Given the description of an element on the screen output the (x, y) to click on. 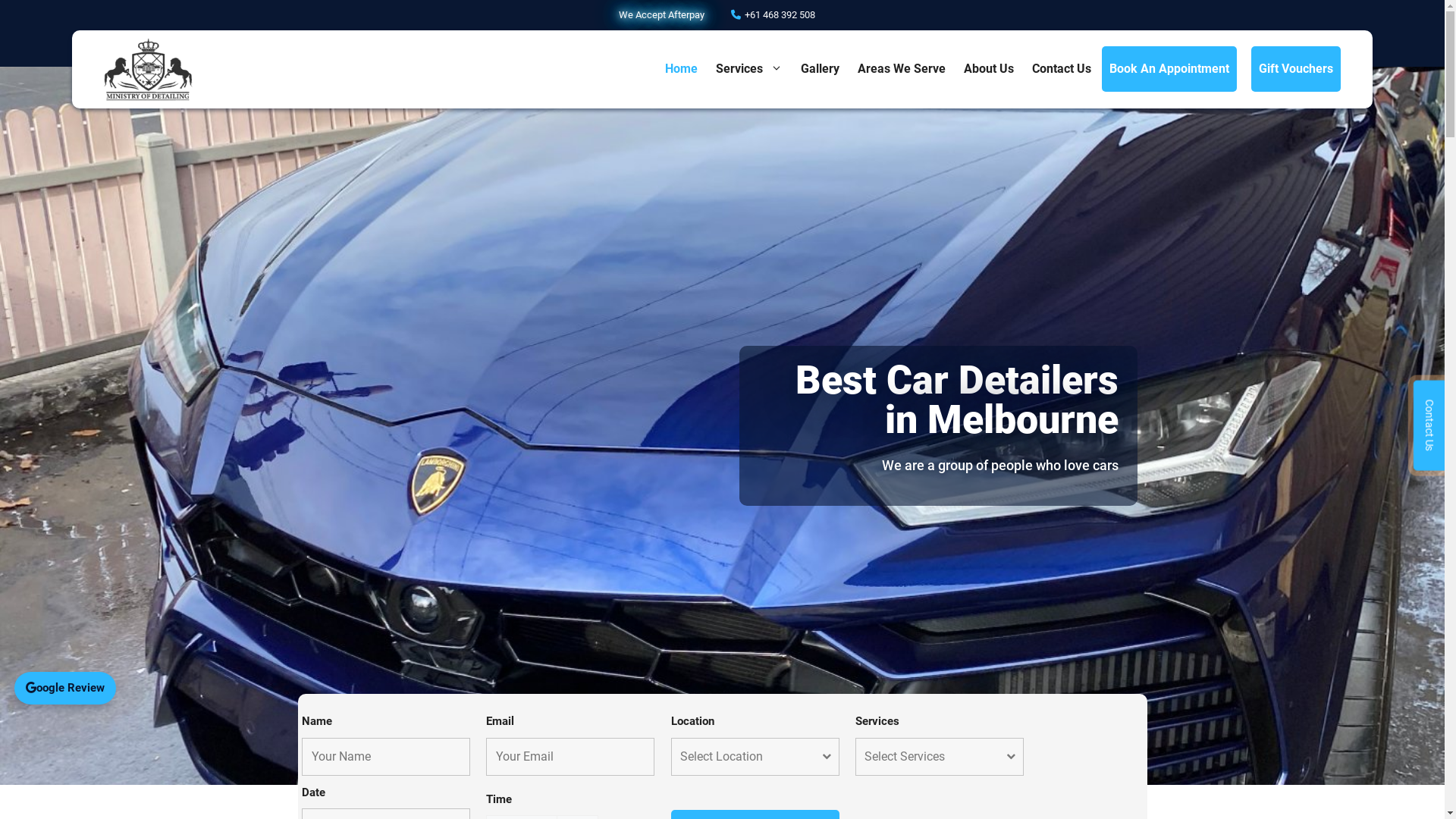
oogle Review Element type: text (65, 687)
Home Element type: text (681, 68)
Book An Appointment Element type: text (1168, 68)
Gift Vouchers Element type: text (1295, 68)
Areas We Serve Element type: text (901, 68)
+61 468 392 508 Element type: text (773, 14)
About Us Element type: text (988, 68)
Contact Us Element type: text (1061, 68)
Gallery Element type: text (820, 68)
Services Element type: text (749, 68)
